Given the description of an element on the screen output the (x, y) to click on. 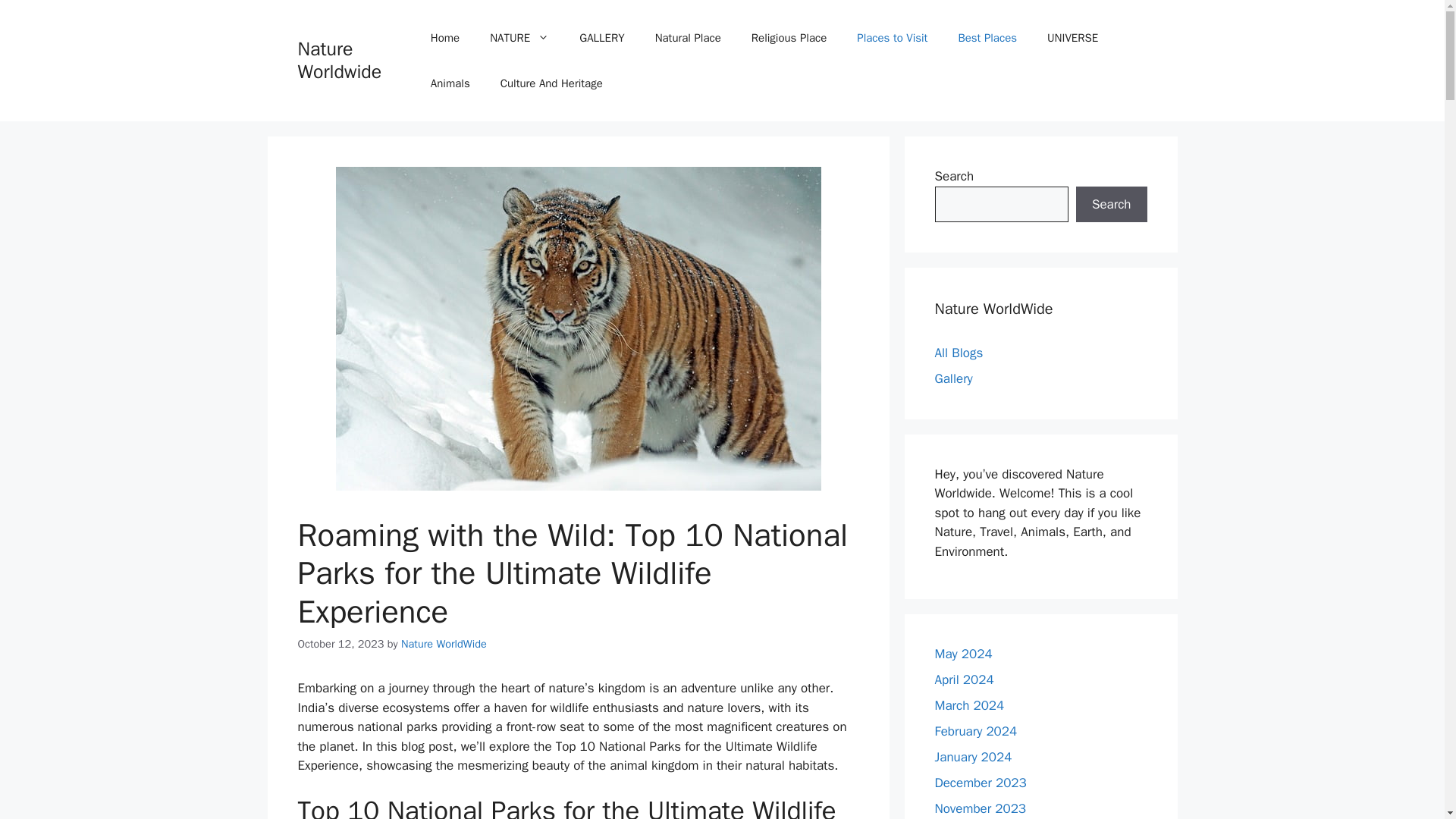
View all posts by Nature WorldWide (443, 643)
Places to Visit (891, 37)
Religious Place (788, 37)
Nature WorldWide (443, 643)
Nature Worldwide (339, 59)
Animals (449, 83)
Best Places (987, 37)
Natural Place (688, 37)
UNIVERSE (1072, 37)
NATURE (519, 37)
Home (444, 37)
GALLERY (601, 37)
Culture And Heritage (550, 83)
